Given the description of an element on the screen output the (x, y) to click on. 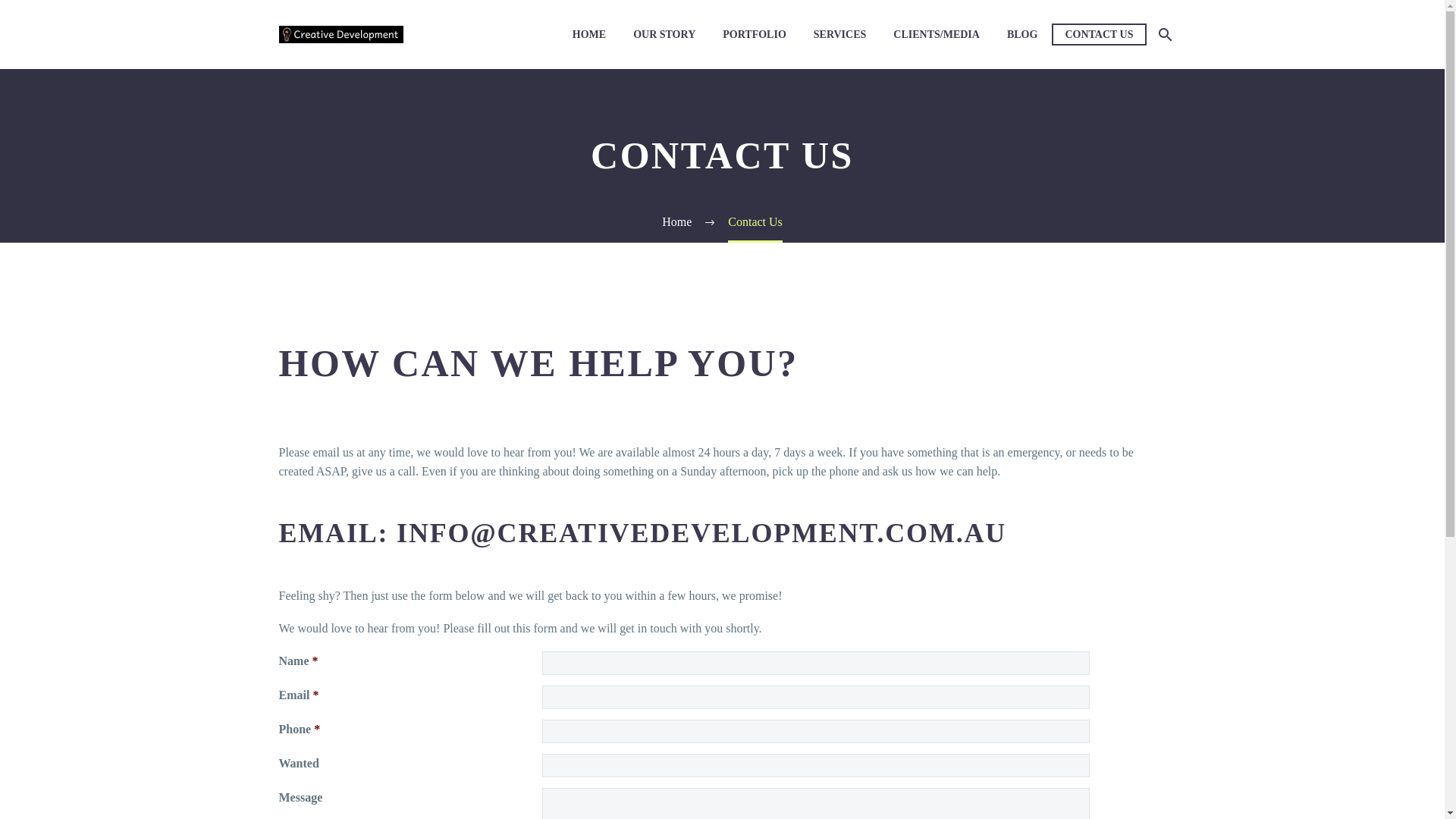
SERVICES Element type: text (840, 34)
PORTFOLIO Element type: text (754, 34)
CONTACT US Element type: text (1098, 34)
Home Element type: text (676, 221)
BLOG Element type: text (1021, 34)
OUR STORY Element type: text (663, 34)
HOME Element type: text (589, 34)
CLIENTS/MEDIA Element type: text (936, 34)
